Given the description of an element on the screen output the (x, y) to click on. 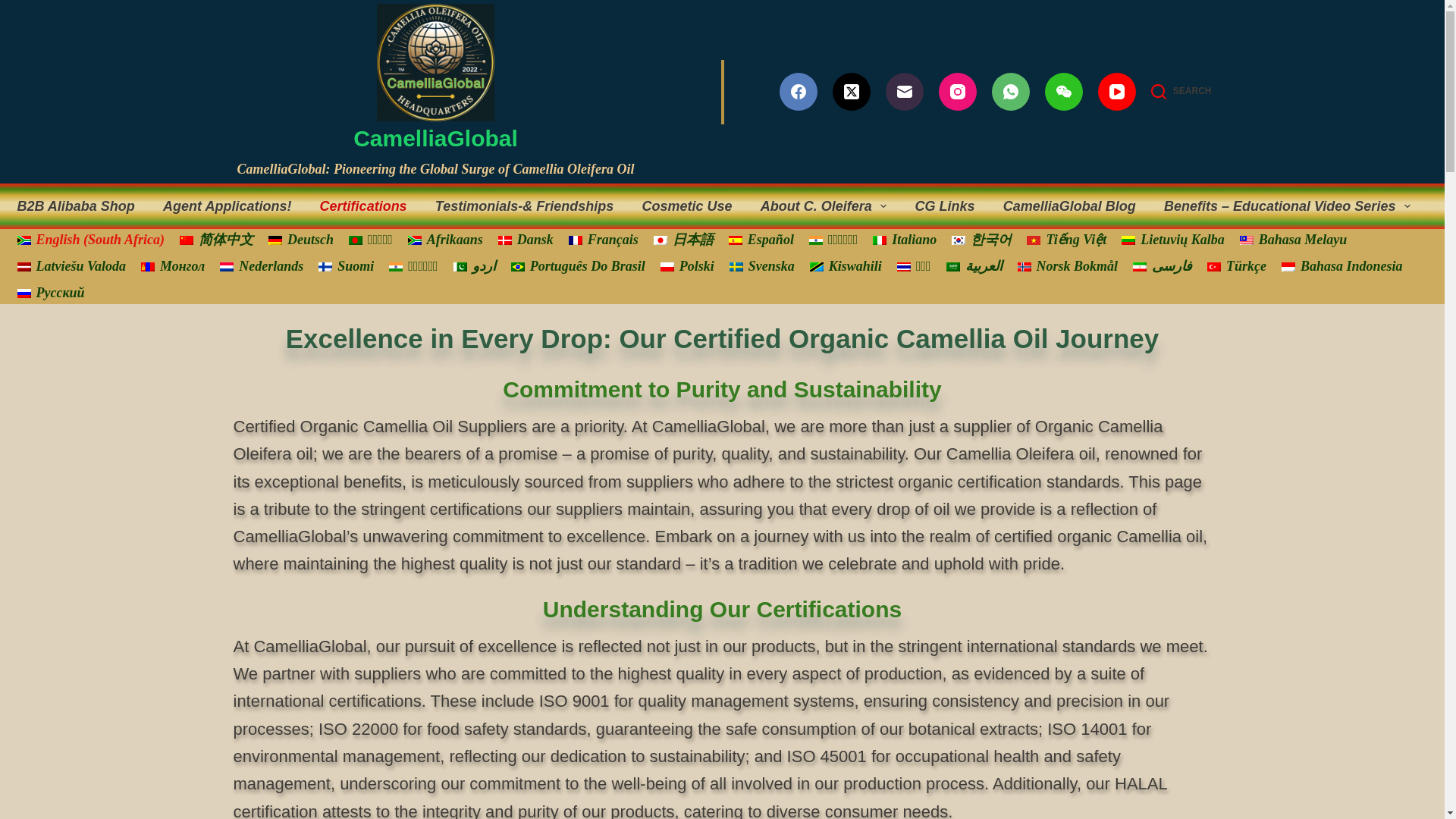
SEARCH (1181, 91)
B2B Alibaba Shop (80, 206)
CamelliaGlobal (435, 138)
Skip to content (15, 7)
Agent Applications! (227, 206)
Yamei Camellia Oil Products (80, 206)
Certified Organic Camellia Oil Suppliers (363, 206)
Cosmetic Use (686, 206)
International Agent Applications! (227, 206)
Certifications (363, 206)
About C. Oleifera (823, 206)
Testimonials-CamelliaGlobal: (524, 206)
